Given the description of an element on the screen output the (x, y) to click on. 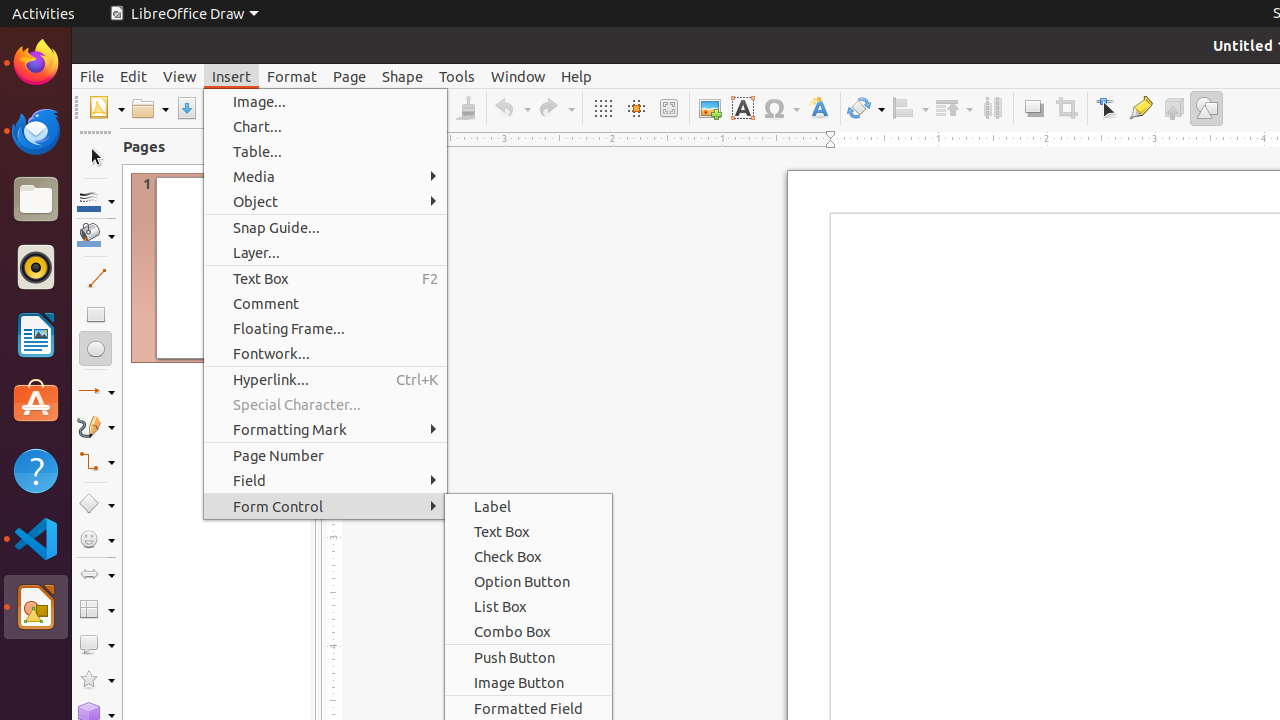
List Box Element type: check-menu-item (528, 606)
Tools Element type: menu (457, 76)
Distribution Element type: push-button (992, 108)
Open Element type: push-button (150, 108)
Rhythmbox Element type: push-button (36, 267)
